Given the description of an element on the screen output the (x, y) to click on. 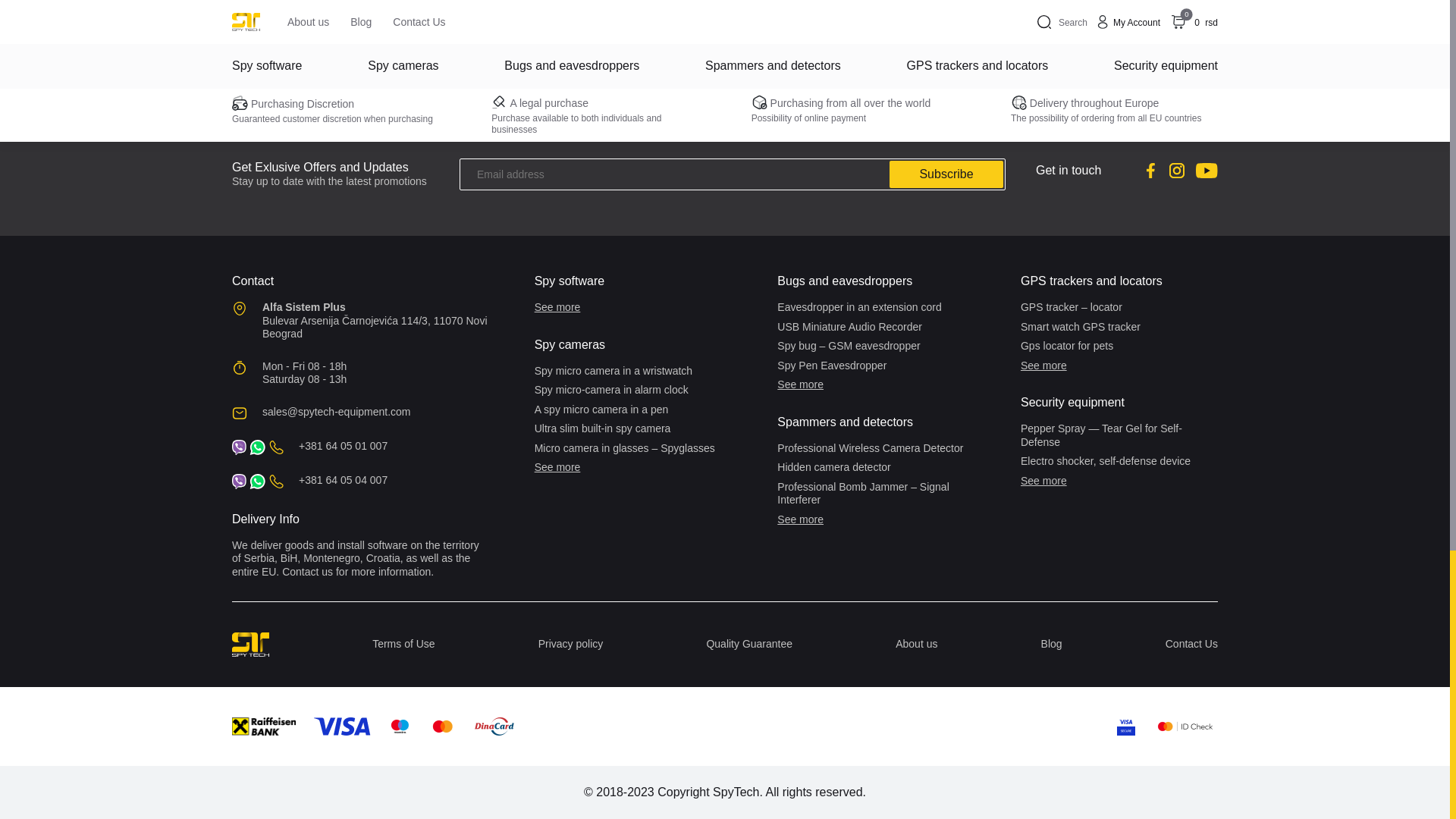
Subscribe (946, 174)
